Given the description of an element on the screen output the (x, y) to click on. 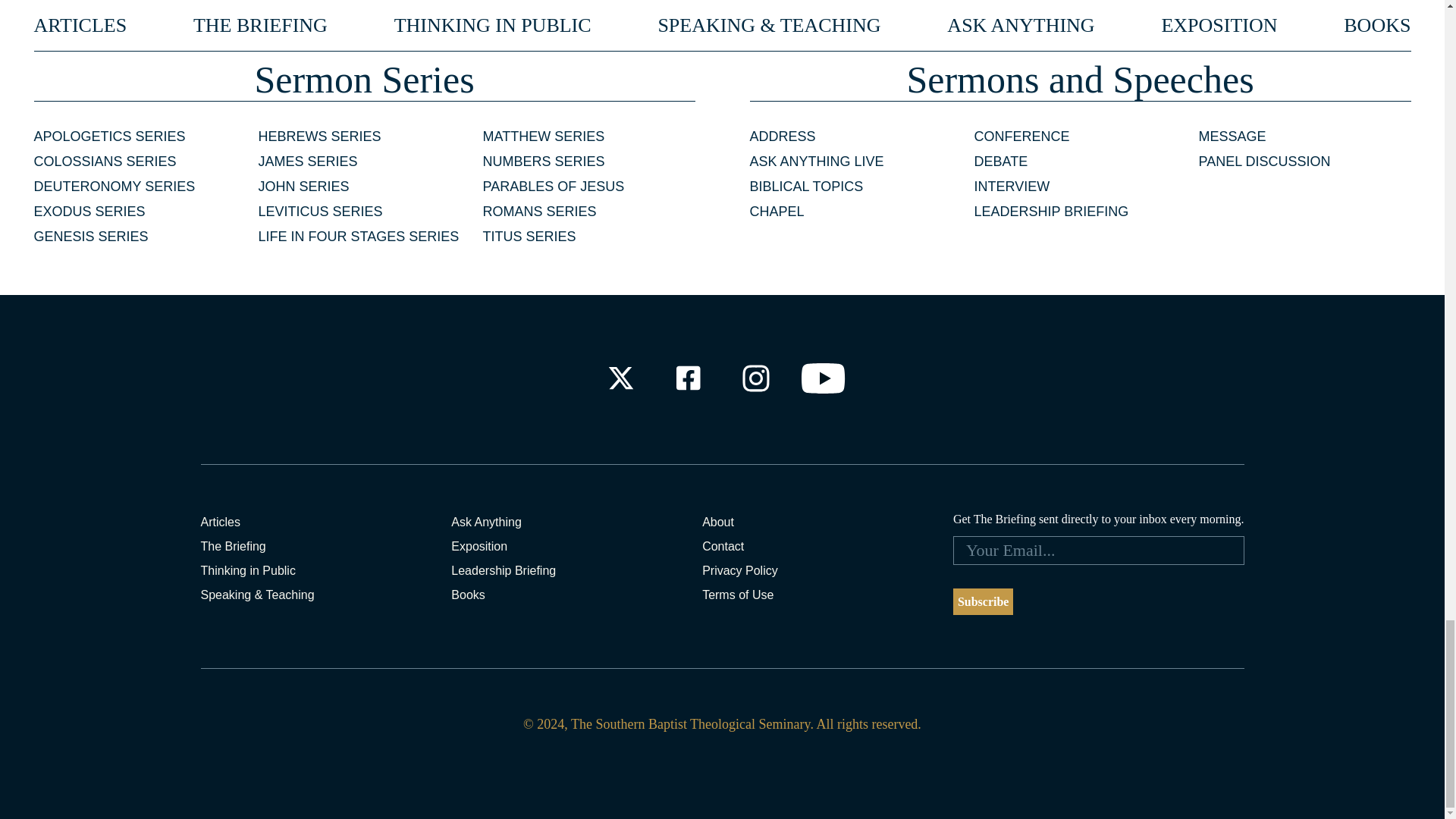
Check out our Facebook Profile (687, 377)
Subscribe (983, 601)
Check out our Youtube Channel (822, 377)
Check out our Instagram Profile (755, 377)
Check out our X Profile (620, 377)
